Given the description of an element on the screen output the (x, y) to click on. 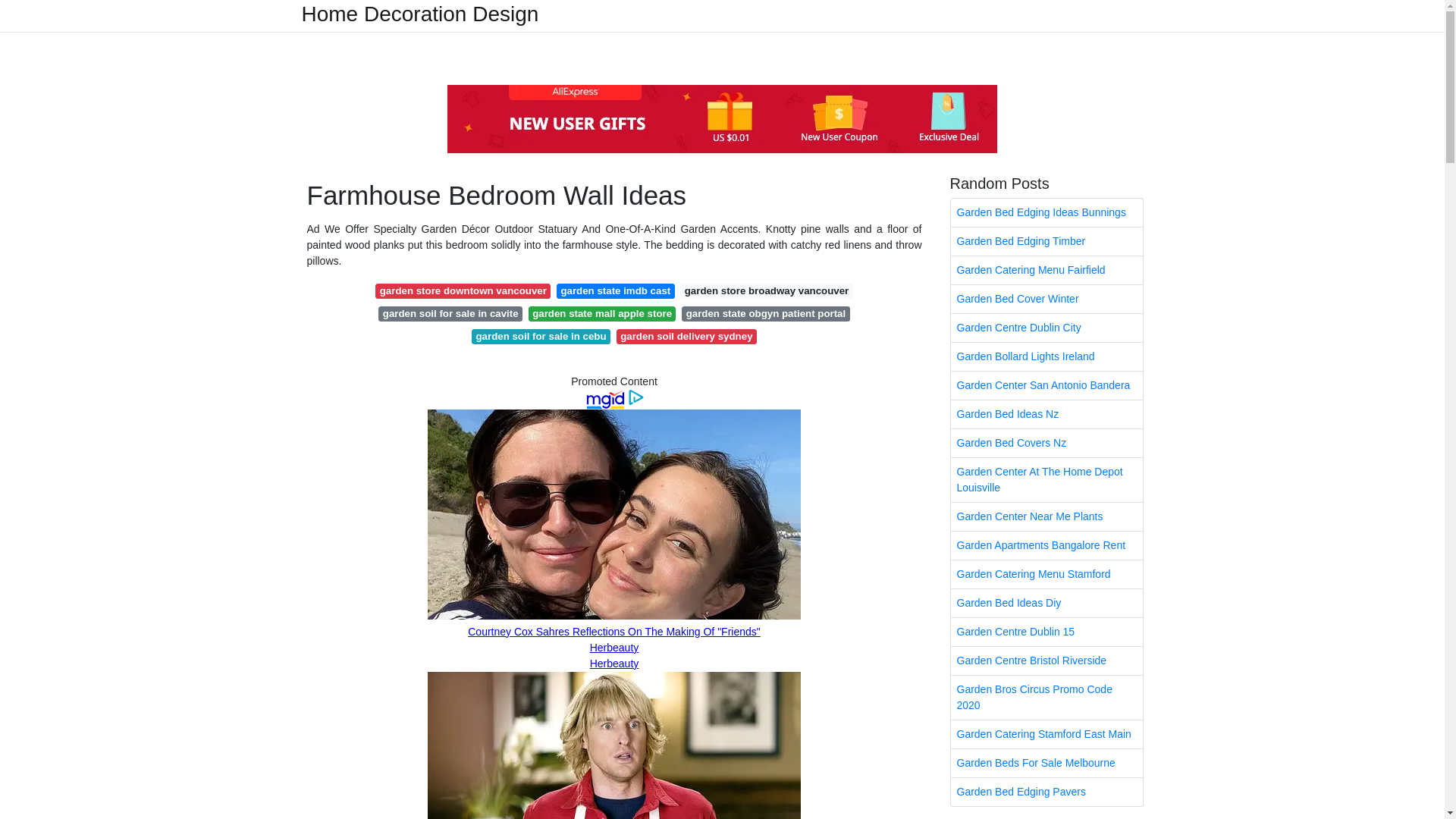
garden soil for sale in cavite (449, 313)
garden store downtown vancouver (462, 290)
garden state obgyn patient portal (764, 313)
Home Decoration Design (419, 13)
Garden Bollard Lights Ireland (1046, 357)
Garden Bed Edging Timber (1046, 241)
Home Decoration Design (419, 13)
garden soil for sale in cebu (540, 336)
garden soil delivery sydney (686, 336)
Garden Bed Ideas Nz (1046, 414)
garden store broadway vancouver (765, 290)
Garden Centre Dublin City (1046, 327)
Garden Bed Edging Ideas Bunnings (1046, 212)
Garden Bed Cover Winter (1046, 298)
Garden Catering Menu Fairfield (1046, 270)
